Given the description of an element on the screen output the (x, y) to click on. 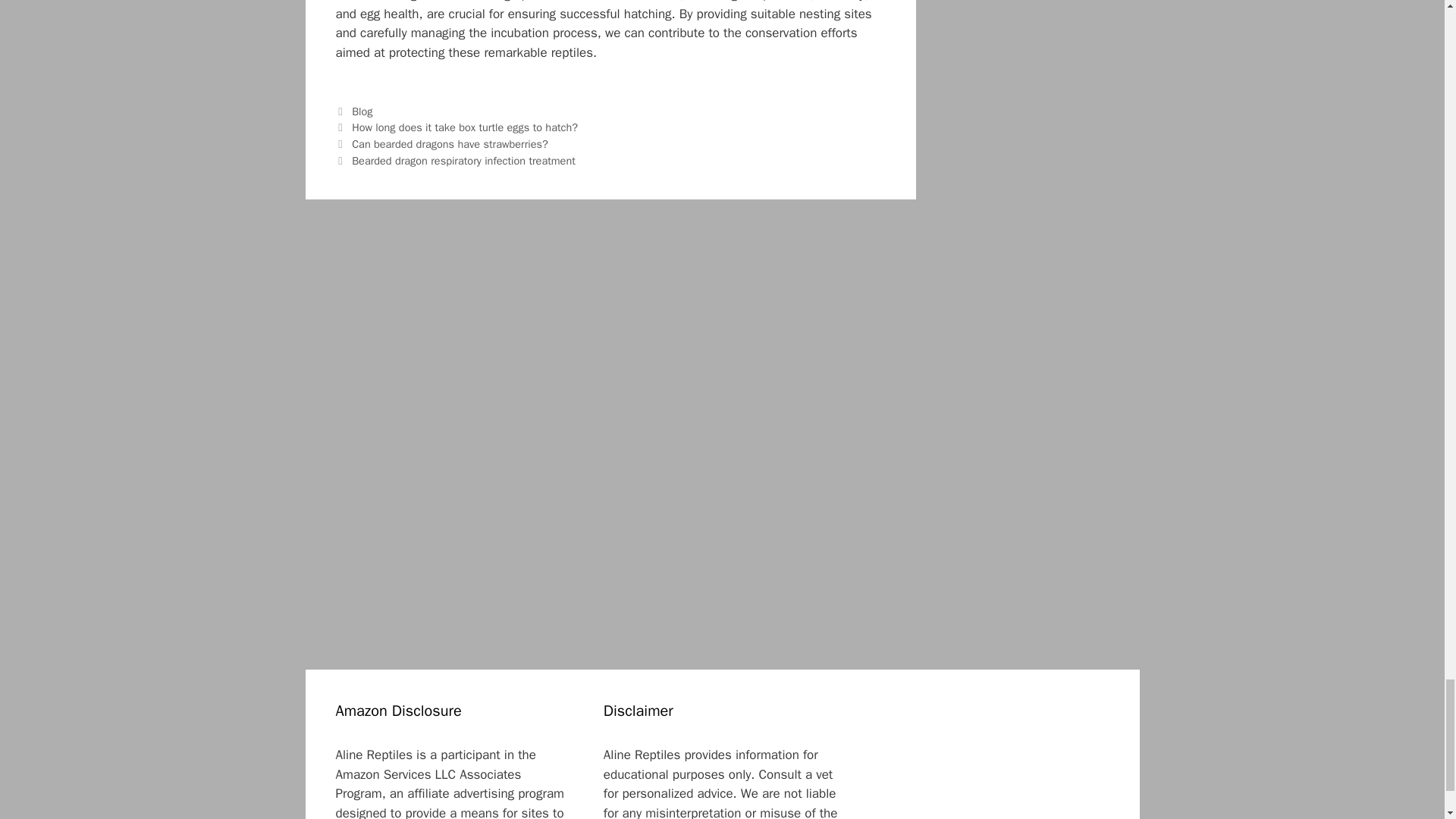
How long does it take box turtle eggs to hatch? (465, 127)
Can bearded dragons have strawberries? (450, 143)
Blog (362, 110)
Bearded dragon respiratory infection treatment (463, 160)
